Given the description of an element on the screen output the (x, y) to click on. 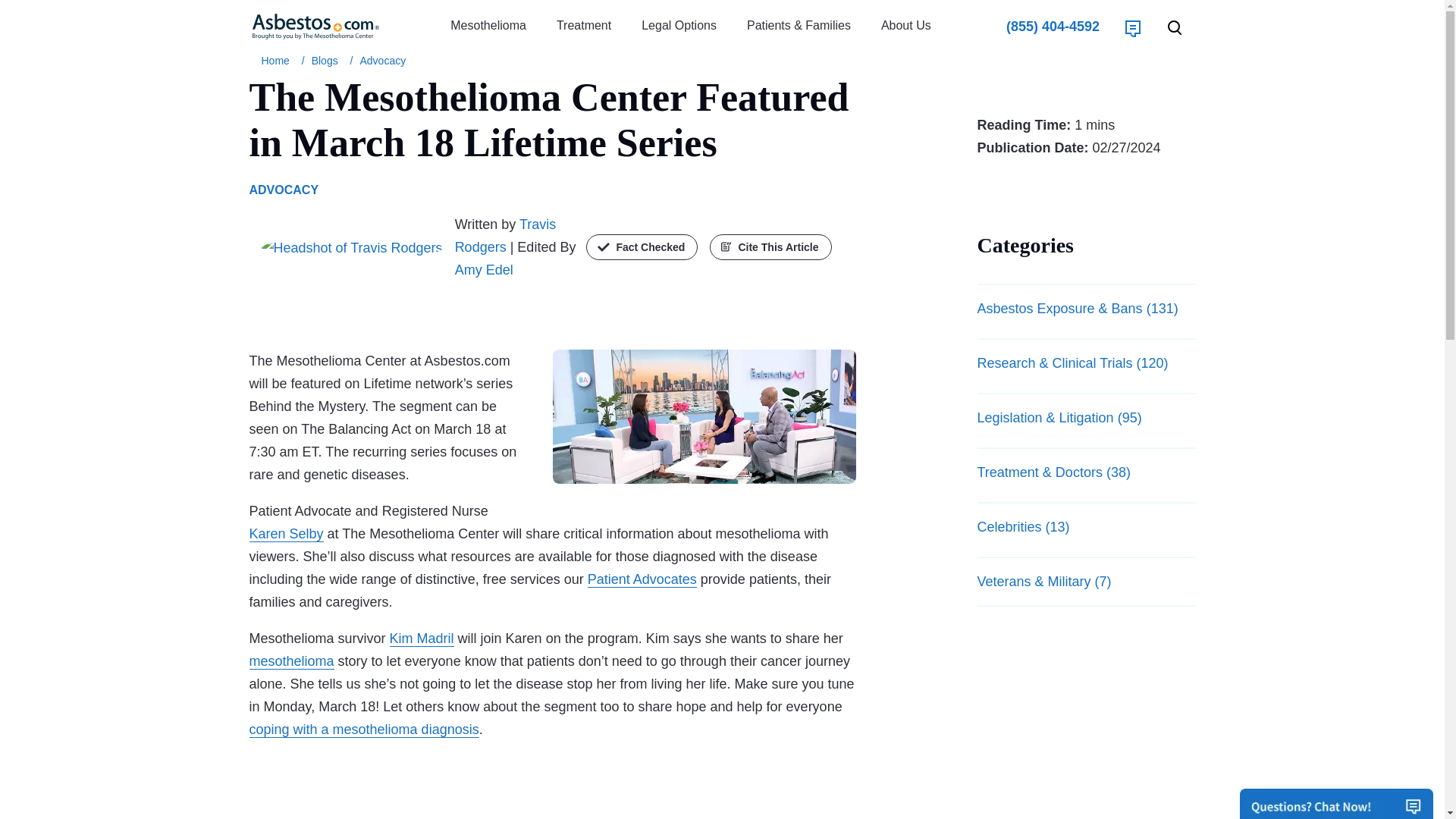
Treatment (583, 25)
Mesothelioma (487, 25)
Mesothelioma Center (277, 60)
